Given the description of an element on the screen output the (x, y) to click on. 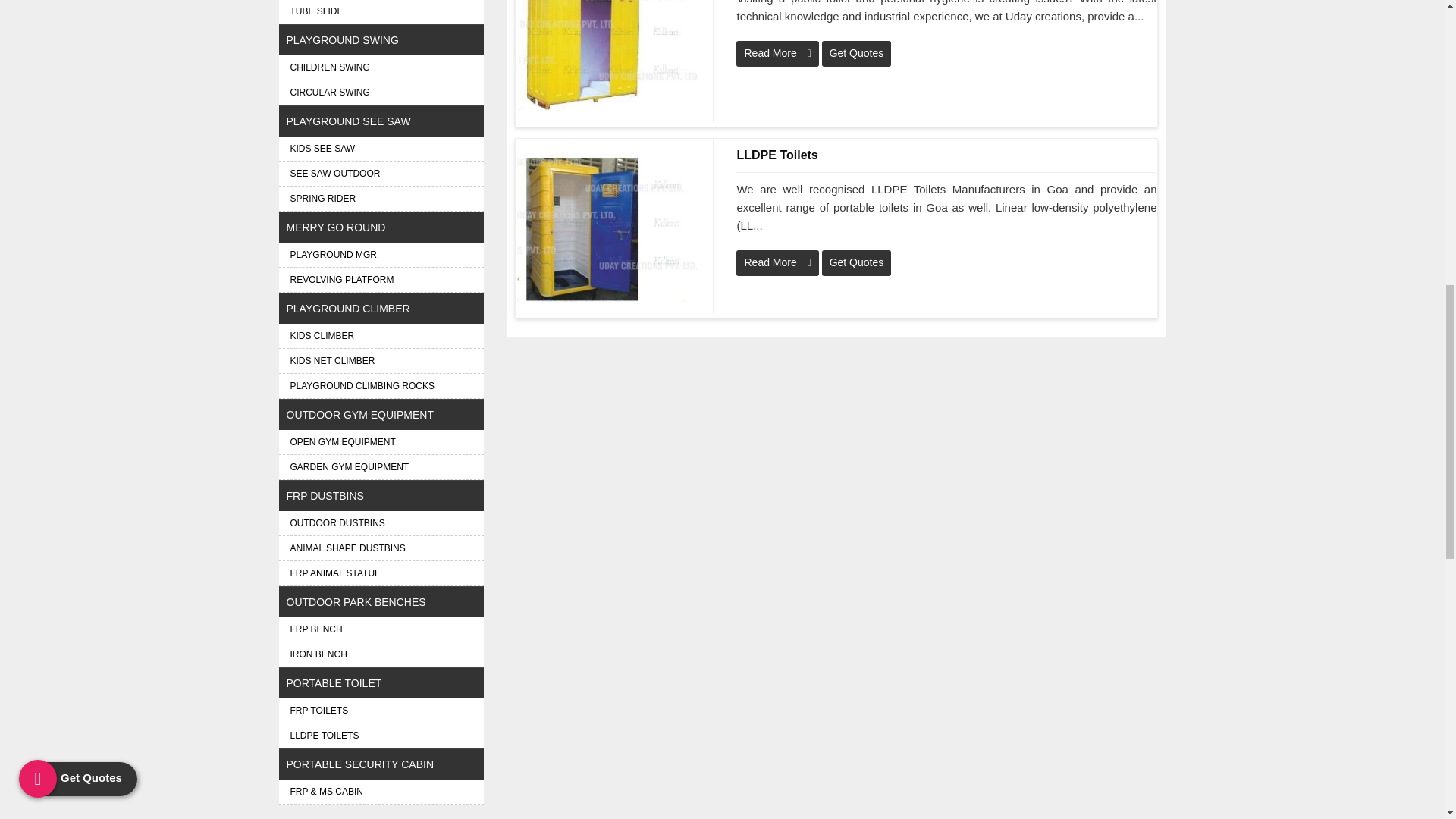
PLAYGROUND SWING (381, 40)
Get Quotes (856, 53)
 FRP Toilets Manufacturers in Goa (607, 55)
 LLDPE Toilets Manufacturers in Goa (608, 225)
CHILDREN SWING (381, 67)
Get Quotes (856, 263)
Read More (777, 263)
Read More (777, 53)
Read More (777, 263)
Get Quotes (856, 263)
 LLDPE Toilets Manufacturers in Goa (946, 155)
TUBE SLIDE (381, 11)
Read More (777, 53)
Get Quotes (856, 53)
 FRP Toilets Manufacturers in Goa (608, 55)
